Given the description of an element on the screen output the (x, y) to click on. 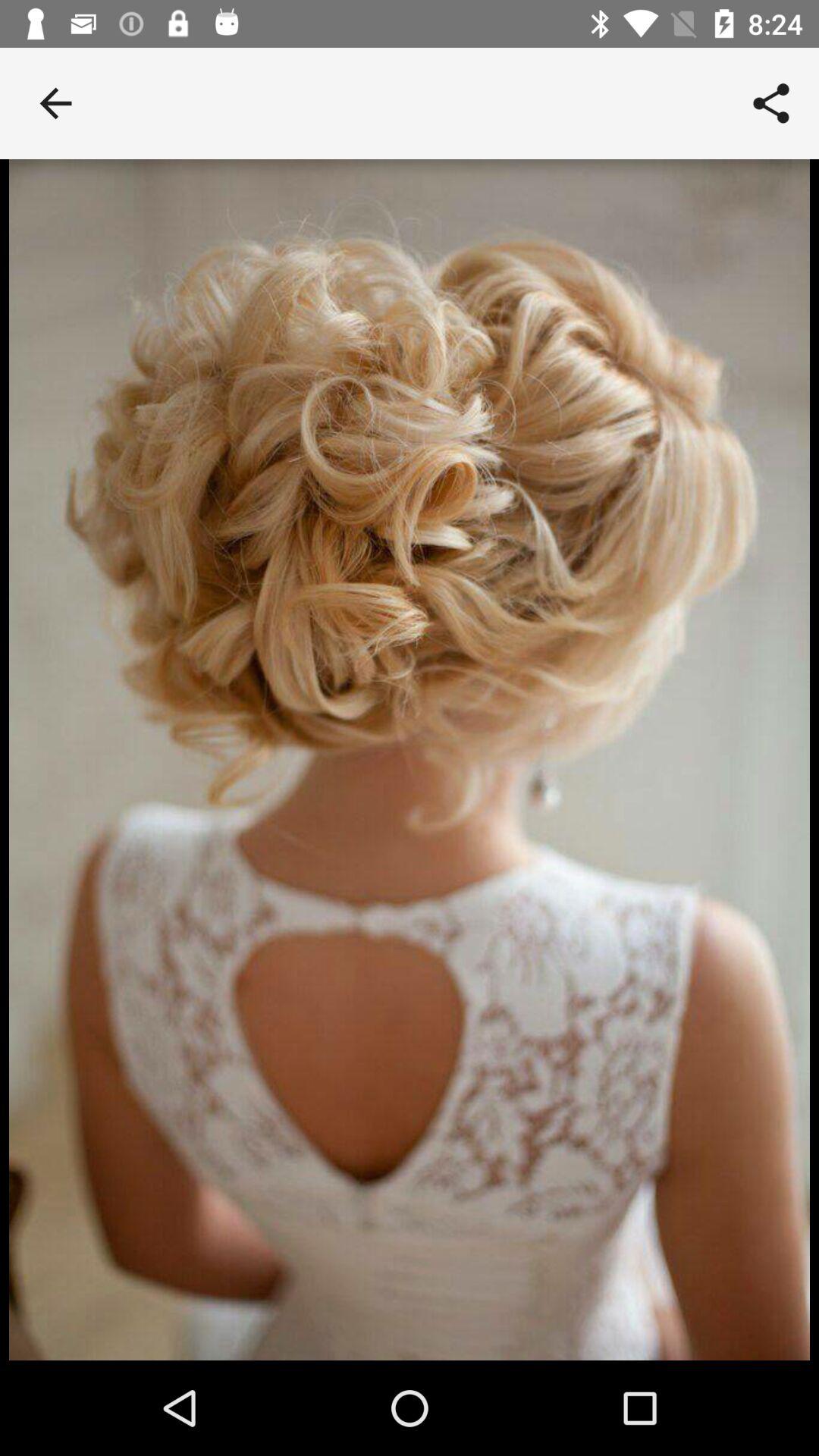
tap icon at the top left corner (55, 103)
